Given the description of an element on the screen output the (x, y) to click on. 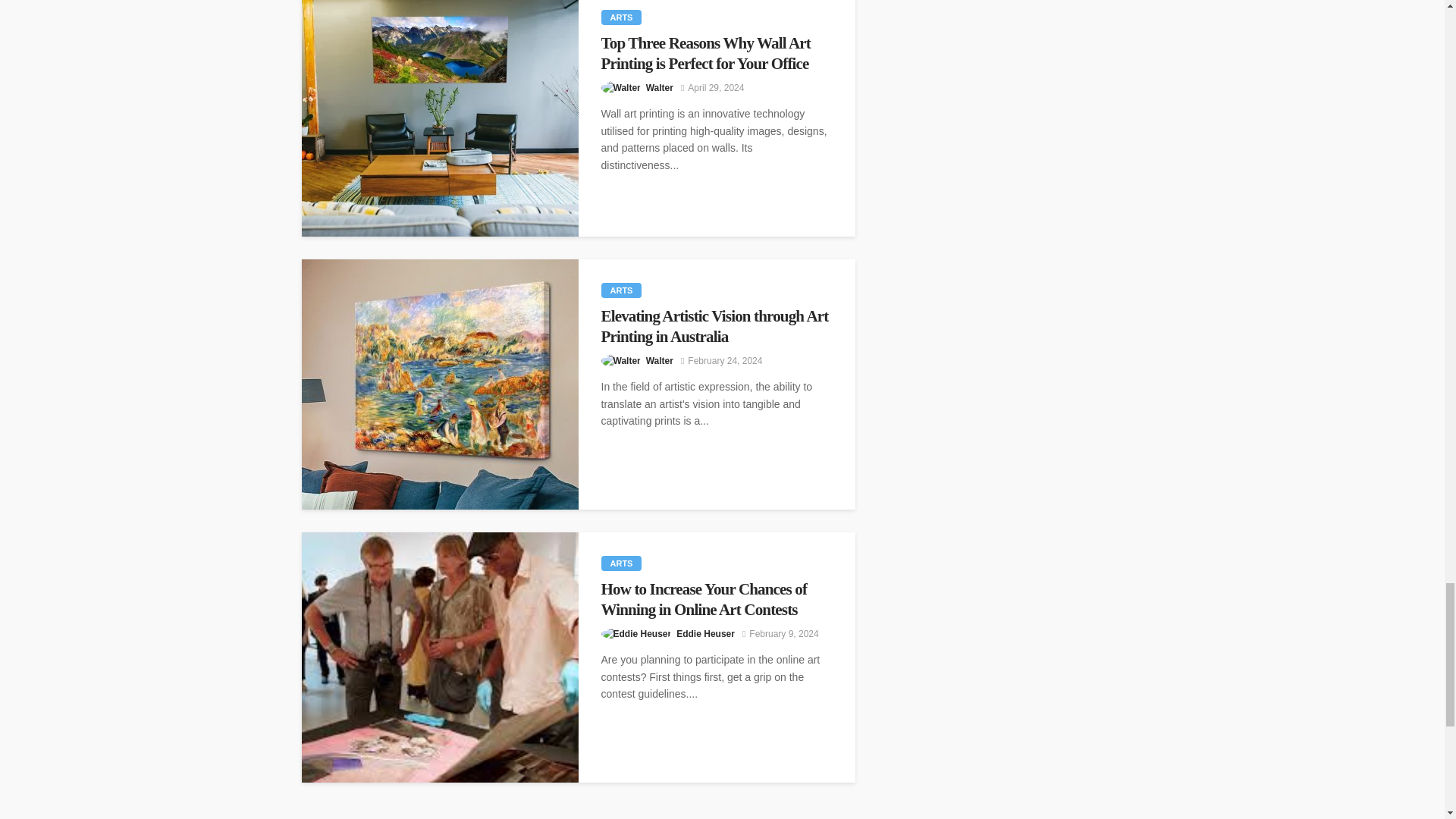
Arts (620, 17)
